Given the description of an element on the screen output the (x, y) to click on. 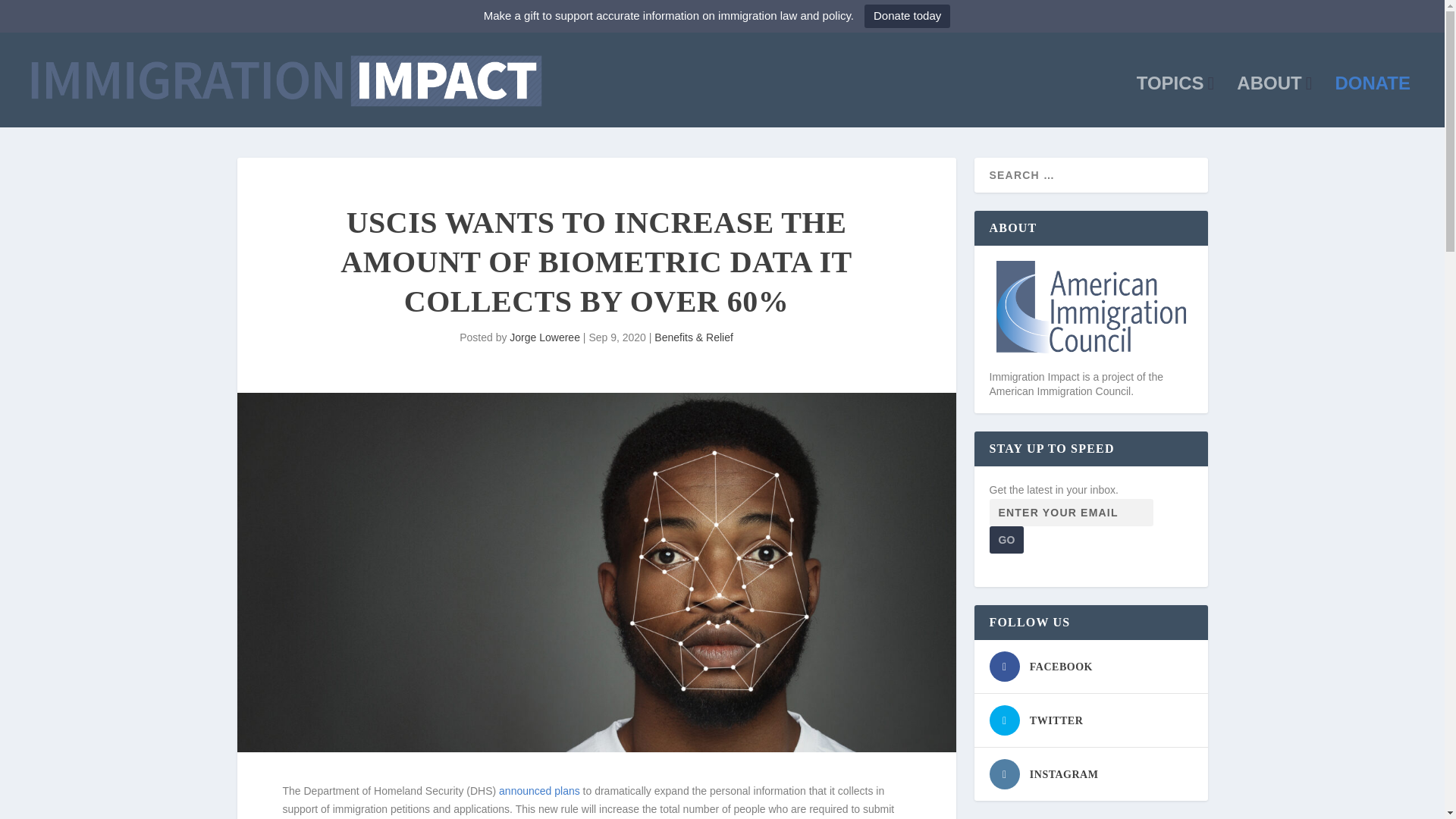
TOPICS (1175, 101)
Posts by Jorge Loweree (544, 337)
Donate today (907, 15)
ABOUT (1273, 101)
GO (1005, 539)
announced plans (539, 790)
DONATE (1372, 101)
Jorge Loweree (544, 337)
